Given the description of an element on the screen output the (x, y) to click on. 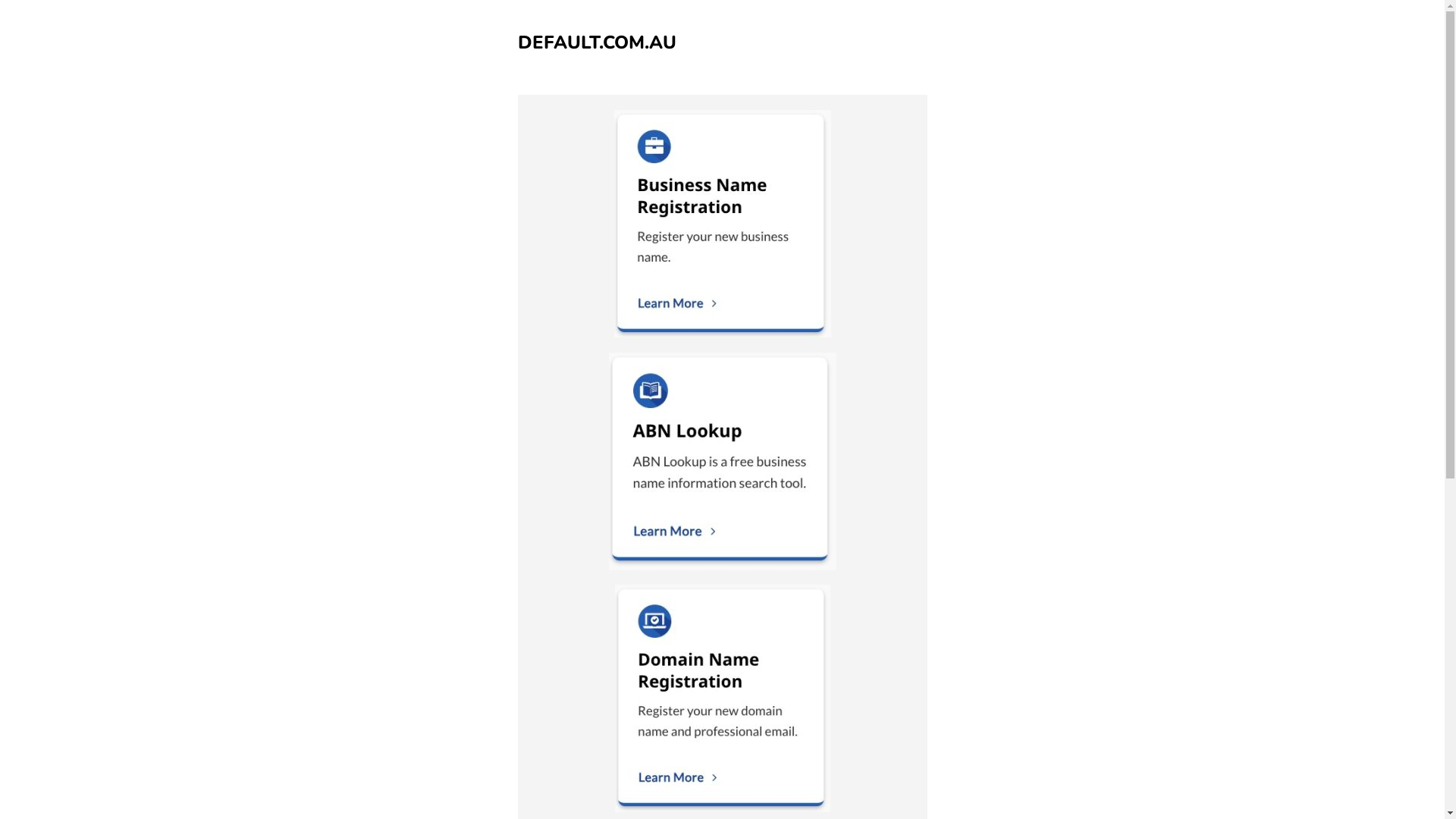
DEFAULT.COM.AU Element type: text (596, 42)
